Given the description of an element on the screen output the (x, y) to click on. 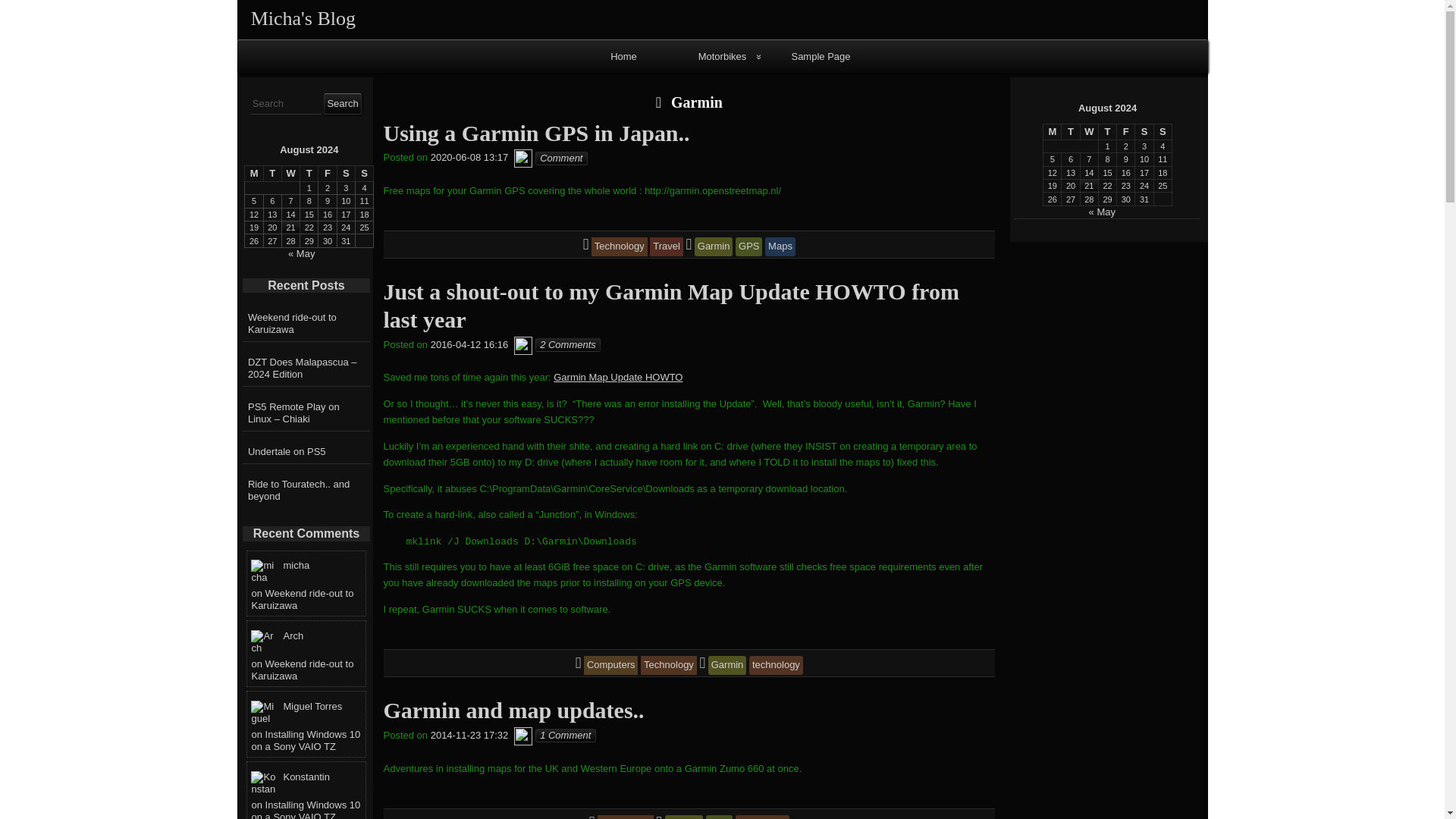
Technology (668, 664)
technology (776, 664)
Skip to categories-2 (774, 6)
Skip to meta-2 (756, 6)
Sample Page (820, 56)
2014-11-23 17:32 (469, 735)
Computers (611, 664)
2020-06-08 13:17 (469, 157)
site title Micha's Blog (303, 18)
